Given the description of an element on the screen output the (x, y) to click on. 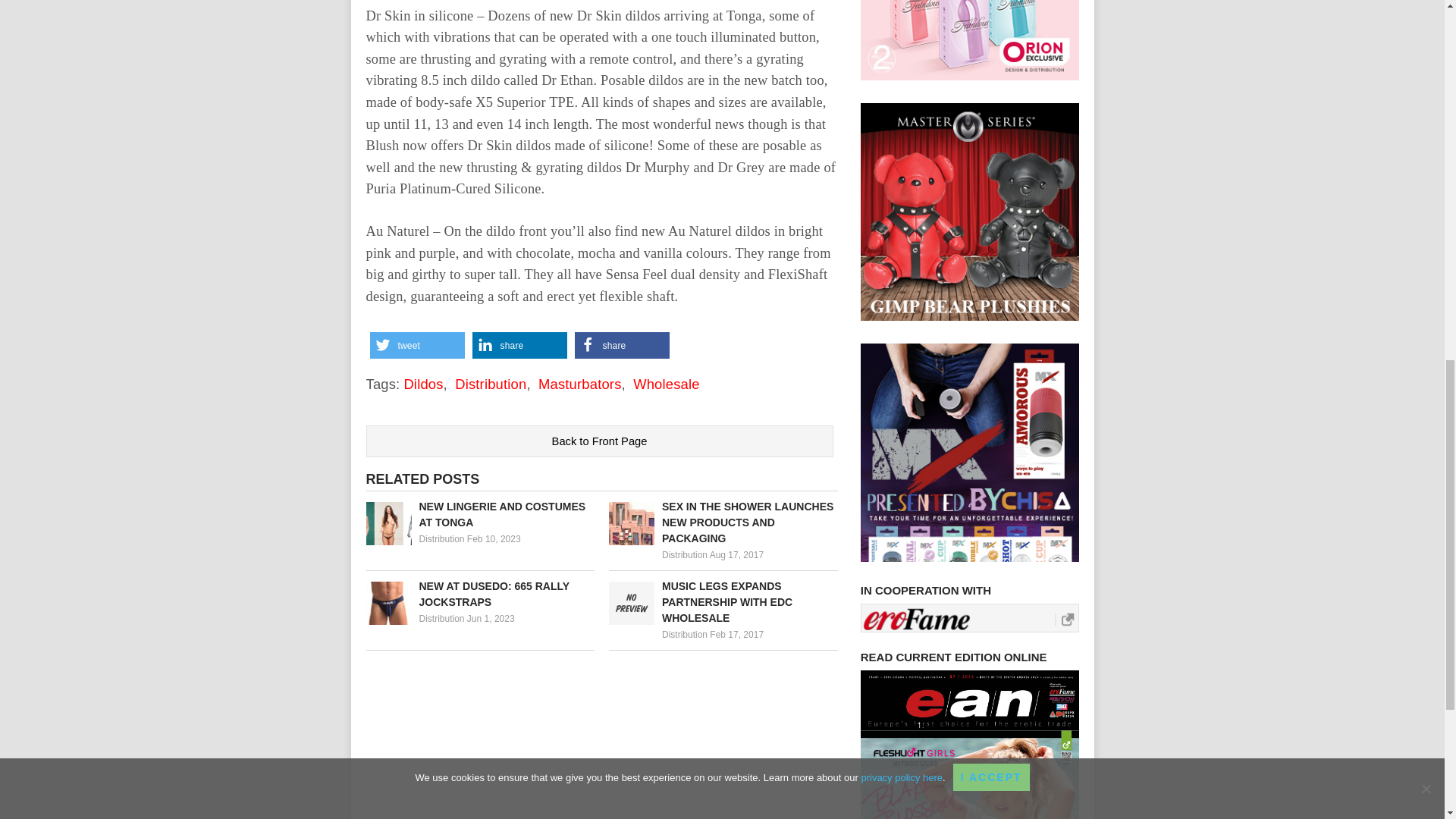
Wholesale (666, 383)
NEW LINGERIE AND COSTUMES AT TONGA (479, 514)
tweet  (416, 345)
SEX IN THE SHOWER LAUNCHES NEW PRODUCTS AND PACKAGING (723, 522)
share  (518, 345)
Dildos (422, 383)
Share on LinkedIn (518, 345)
Distribution (489, 383)
Back to Front Page (599, 440)
Distribution (684, 554)
Distribution (441, 618)
Masturbators (579, 383)
Music Legs expands partnership with EDC Wholesale (723, 602)
Distribution (441, 538)
New lingerie and costumes at Tonga (479, 514)
